Given the description of an element on the screen output the (x, y) to click on. 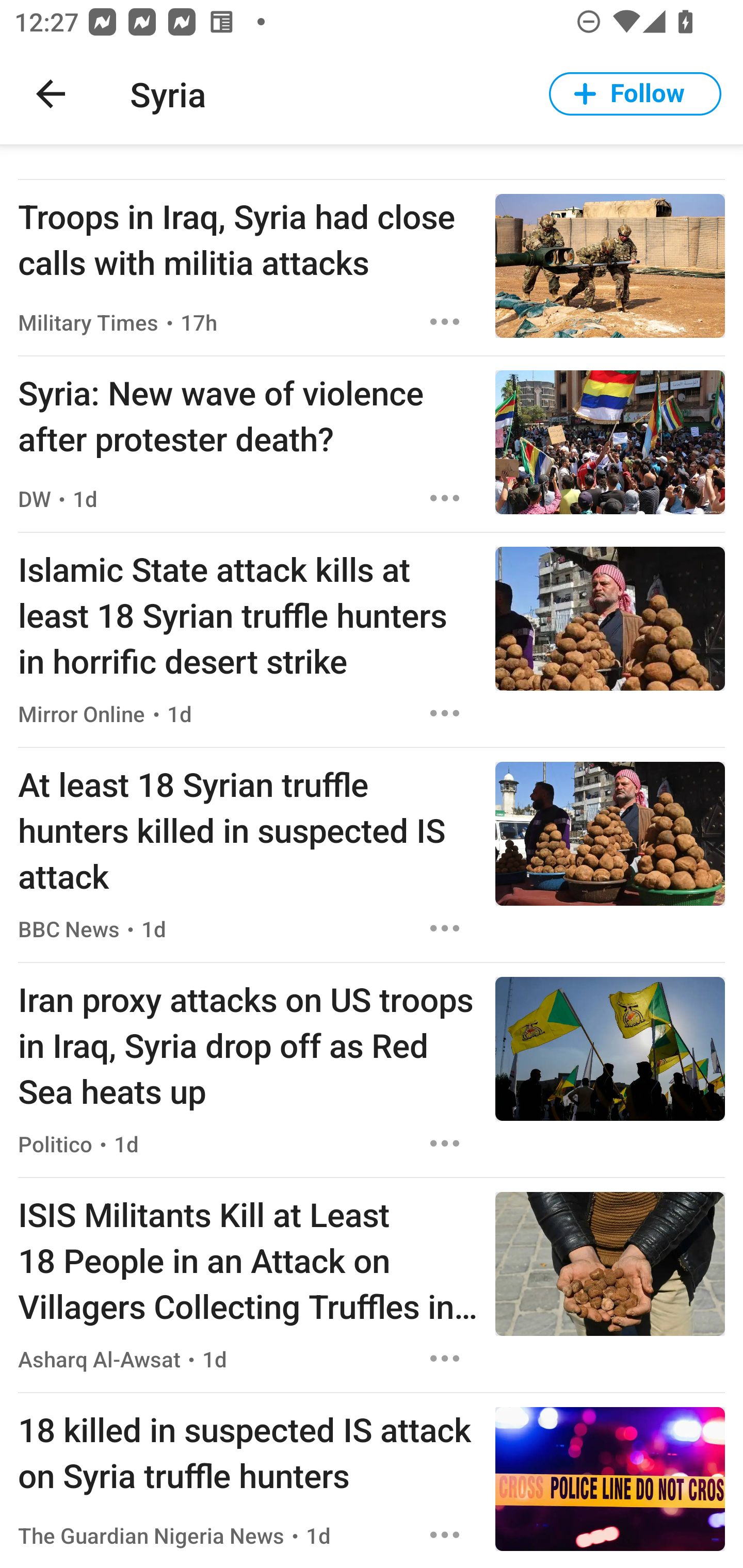
Navigate up (50, 93)
Follow (635, 94)
Options (444, 321)
Options (444, 498)
Options (444, 713)
Options (444, 928)
Options (444, 1143)
Options (444, 1358)
Options (444, 1535)
